Given the description of an element on the screen output the (x, y) to click on. 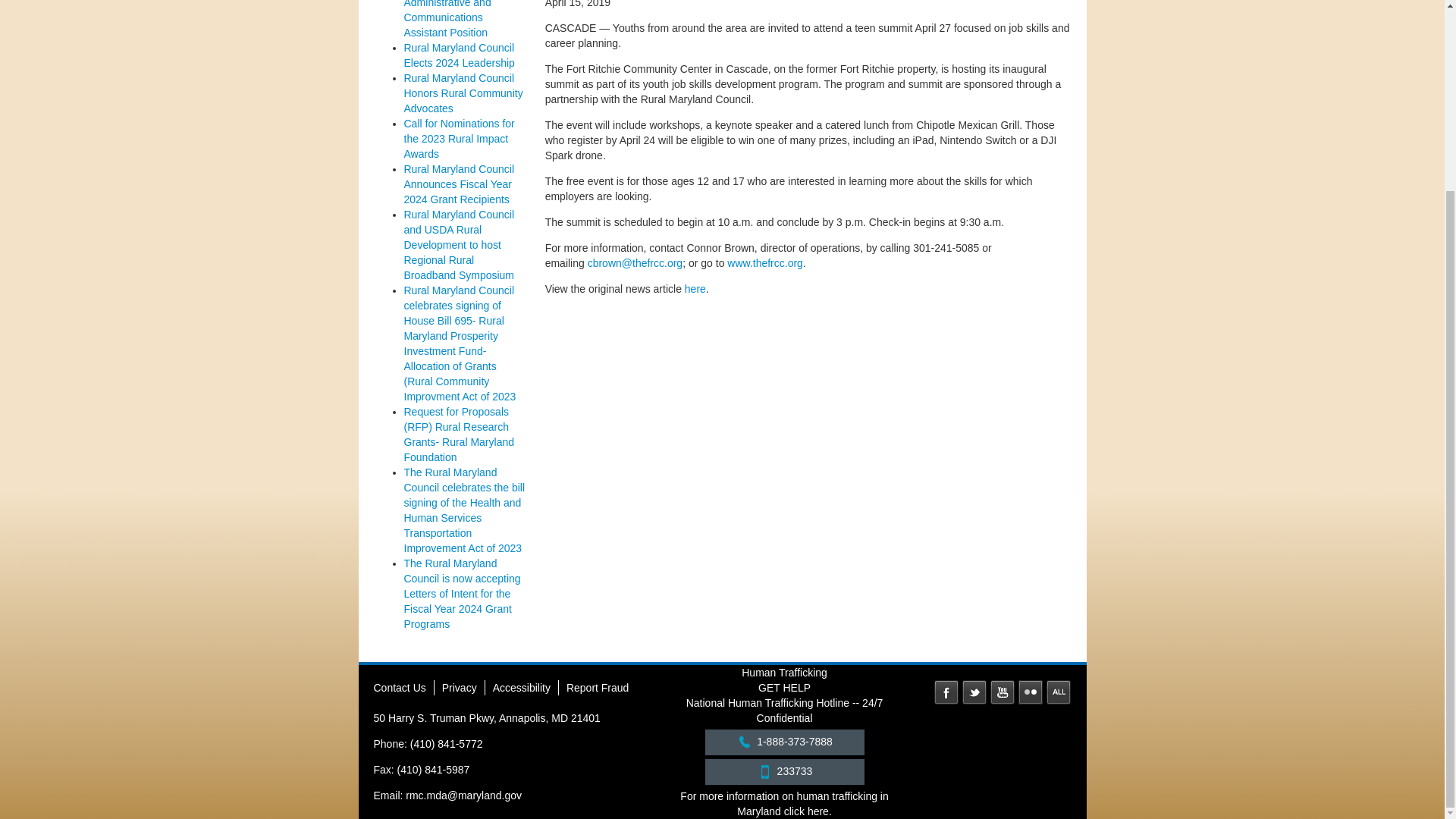
Flickr (1029, 692)
Rural Maryland Council Honors Rural Community Advocates (462, 93)
Contact Us (398, 687)
Facebook (946, 692)
YouTube (1002, 692)
MD Social Media Directory (1058, 692)
Privacy (459, 687)
Call for Nominations for the 2023 Rural Impact Awards (458, 138)
